Given the description of an element on the screen output the (x, y) to click on. 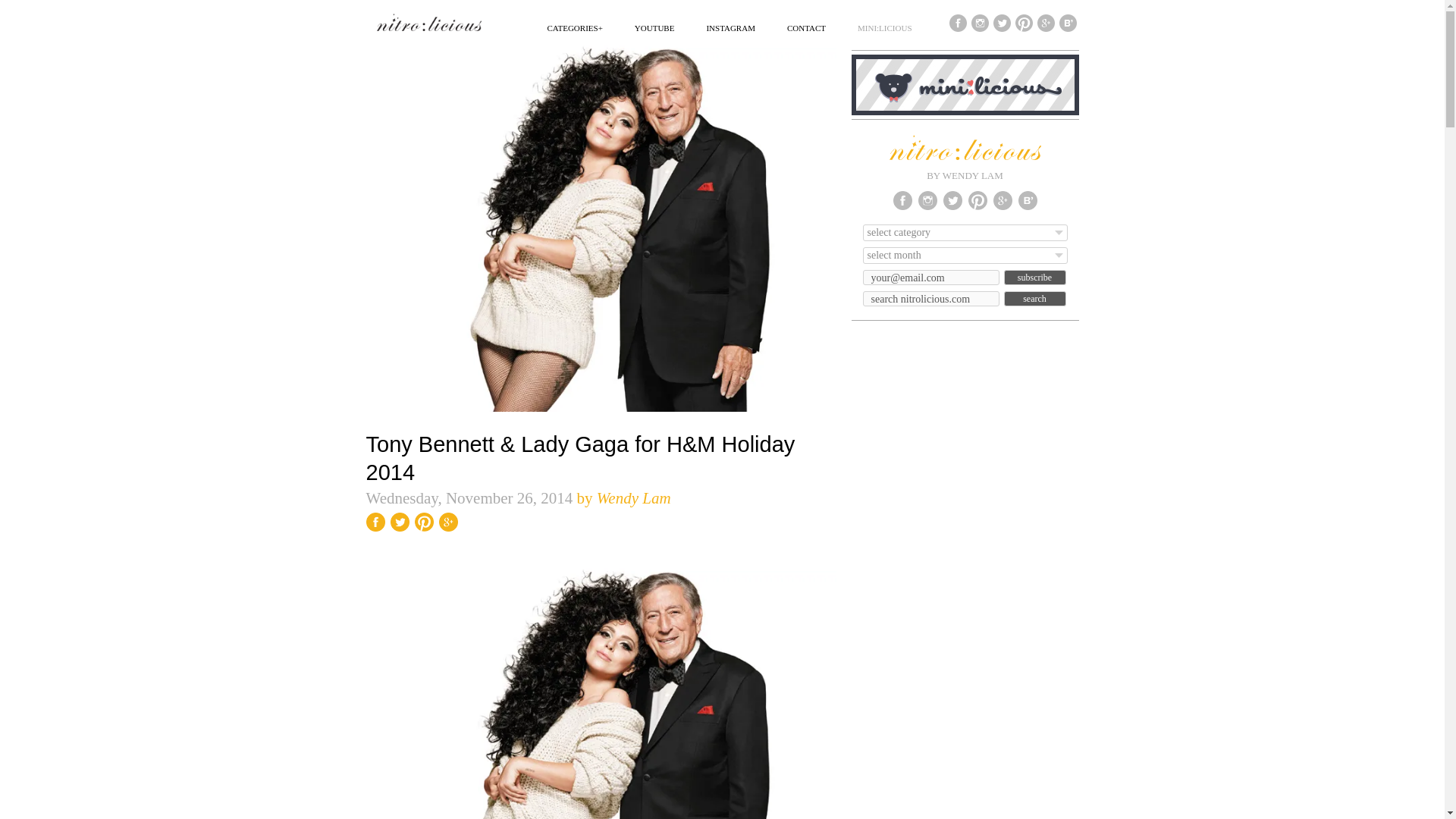
YOUTUBE (654, 28)
Subscribe (1034, 277)
Wendy Lam (633, 497)
CONTACT (806, 28)
Search (1034, 298)
MINI:LICIOUS (884, 28)
INSTAGRAM (730, 28)
